Given the description of an element on the screen output the (x, y) to click on. 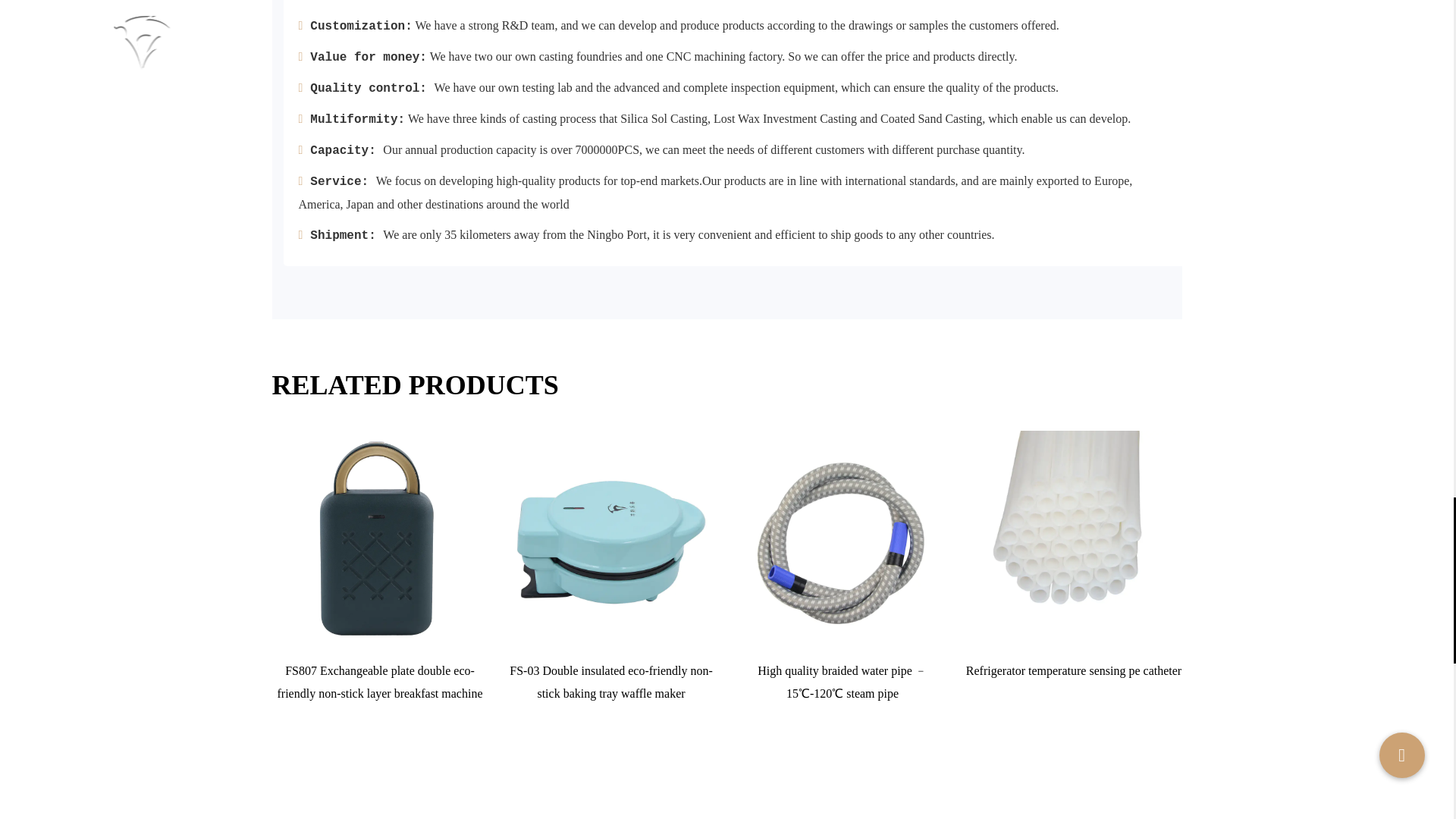
Refrigerator temperature sensing pe catheter (1074, 538)
